Given the description of an element on the screen output the (x, y) to click on. 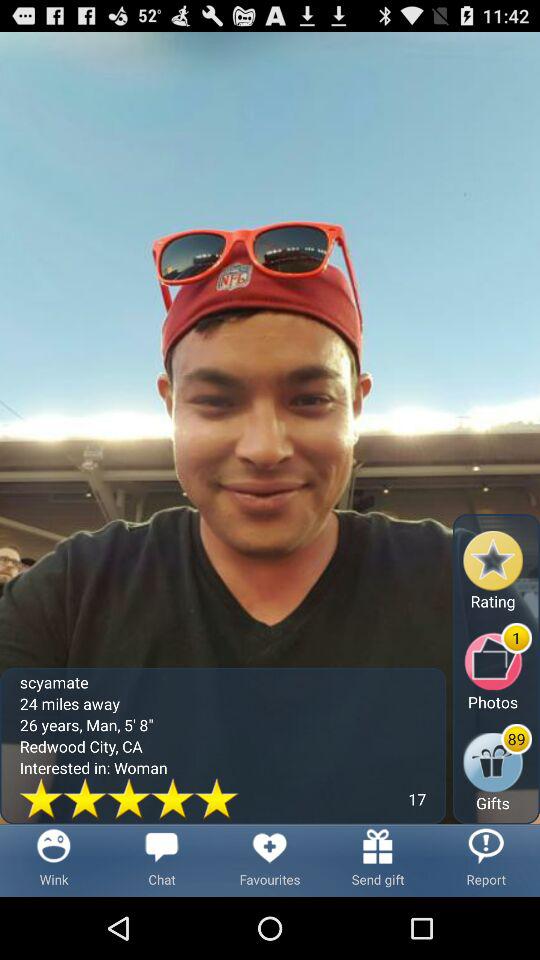
flip until chat item (162, 860)
